Given the description of an element on the screen output the (x, y) to click on. 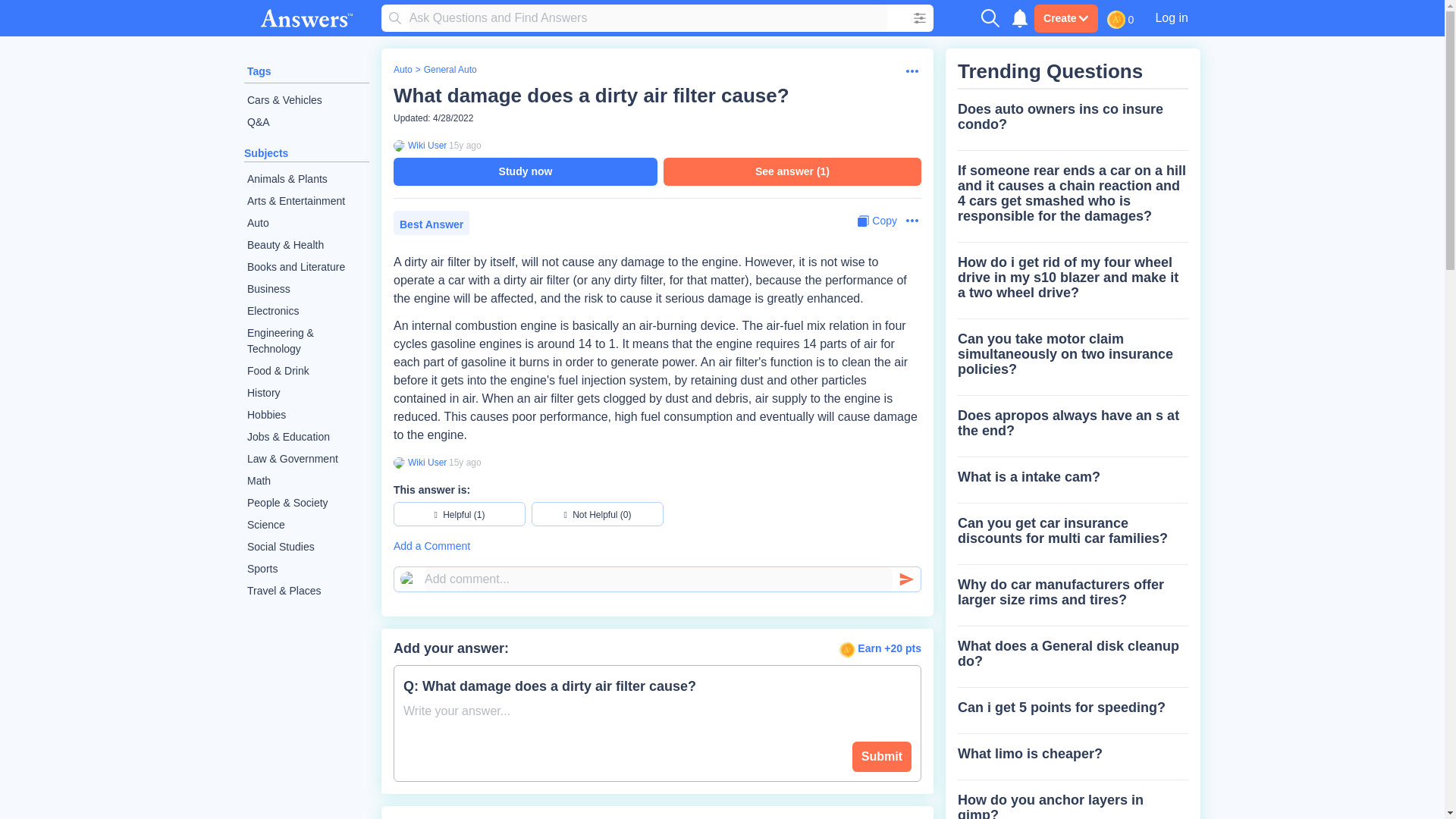
Add a Comment (657, 546)
Electronics (306, 311)
History (306, 393)
General Auto (450, 69)
Science (306, 525)
Auto (306, 223)
Sports (306, 568)
Study now (525, 171)
Create (1065, 18)
2009-07-07 17:58:56 (464, 462)
